Given the description of an element on the screen output the (x, y) to click on. 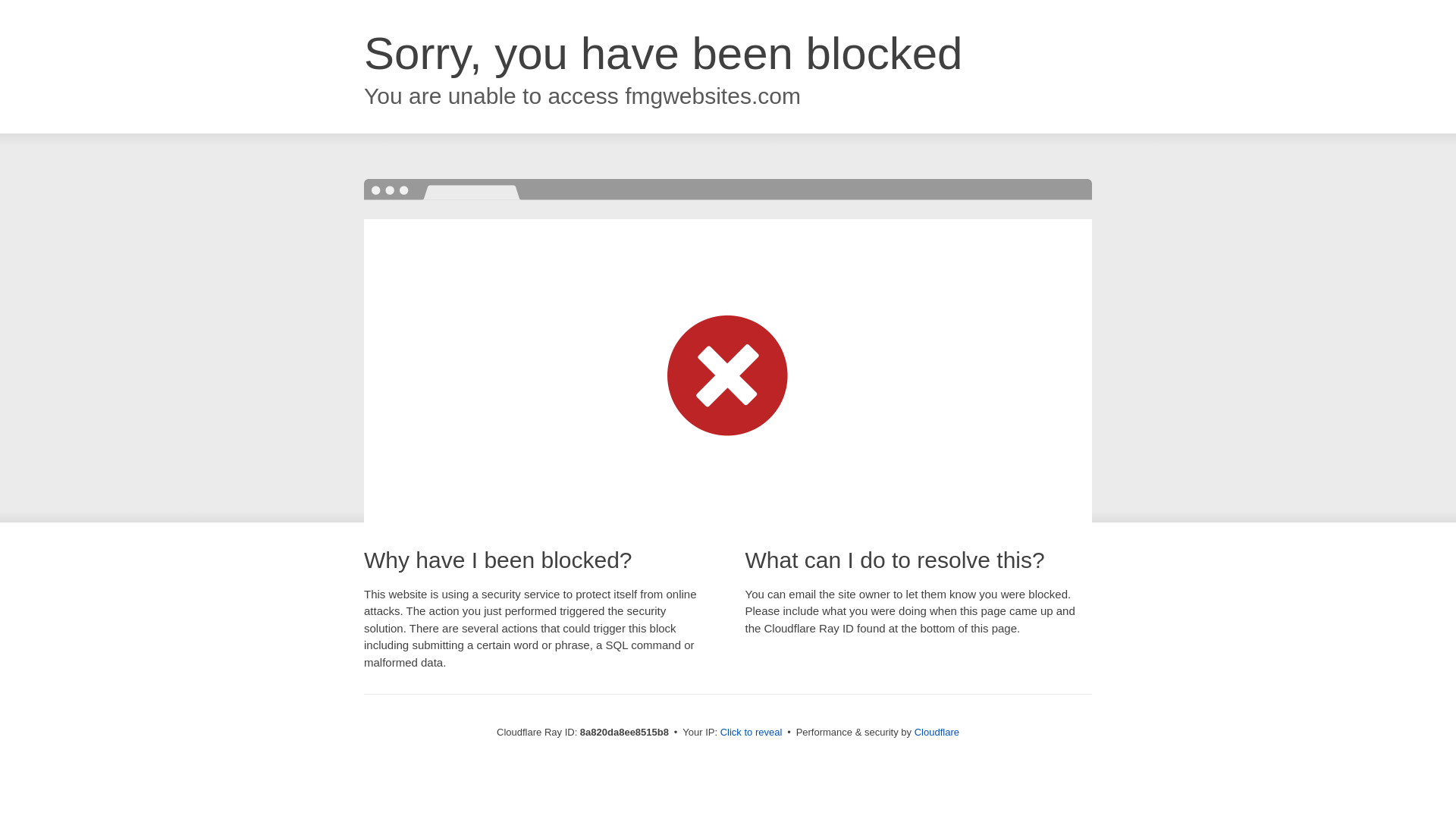
Cloudflare (936, 731)
Click to reveal (751, 732)
